Given the description of an element on the screen output the (x, y) to click on. 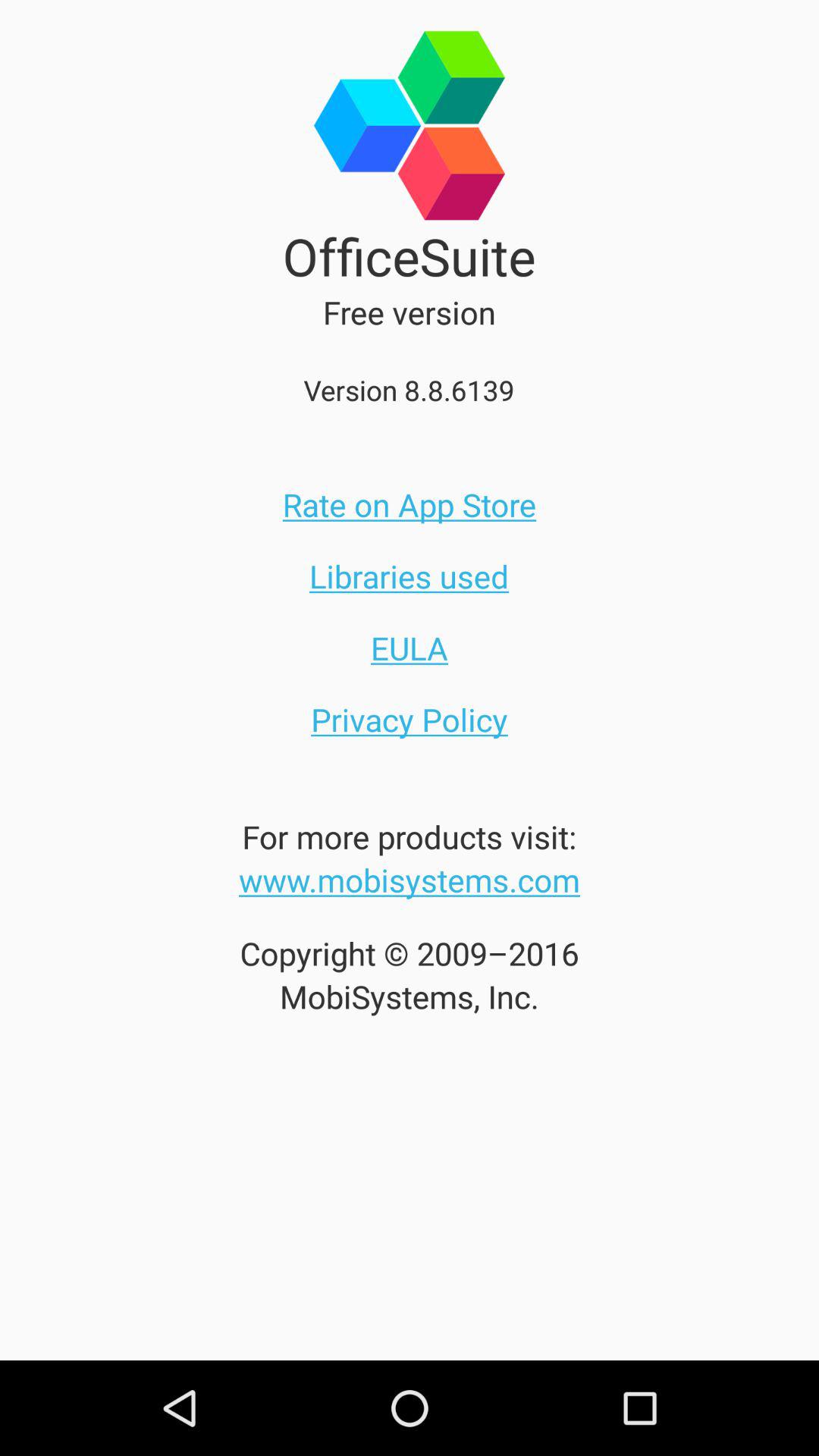
turn off item below the for more products icon (409, 879)
